Given the description of an element on the screen output the (x, y) to click on. 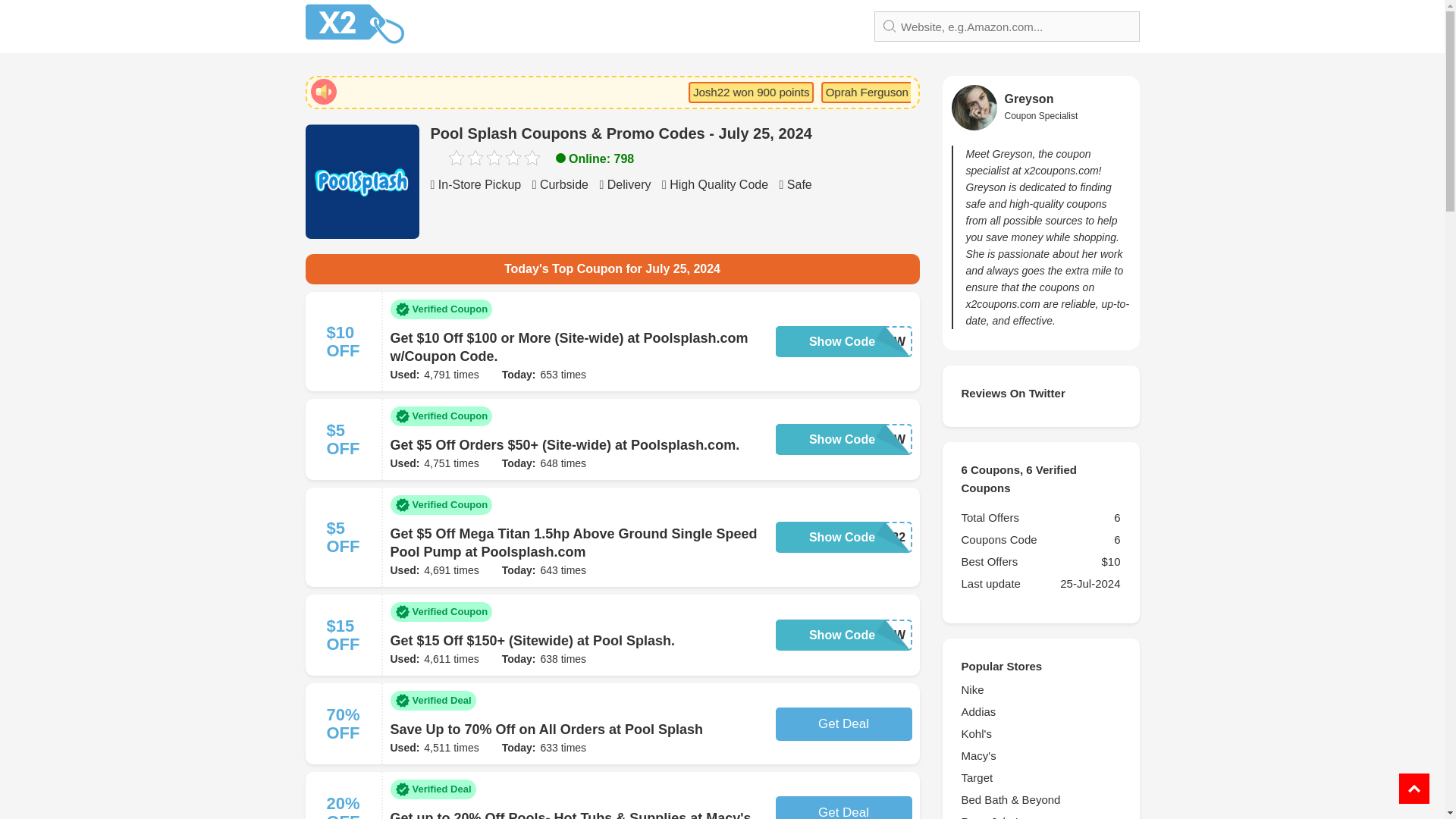
Kohl's (1040, 733)
Addias (1040, 711)
Target (1040, 778)
Macy's (1040, 755)
Papa John's (1040, 816)
Nike (1040, 689)
